Given the description of an element on the screen output the (x, y) to click on. 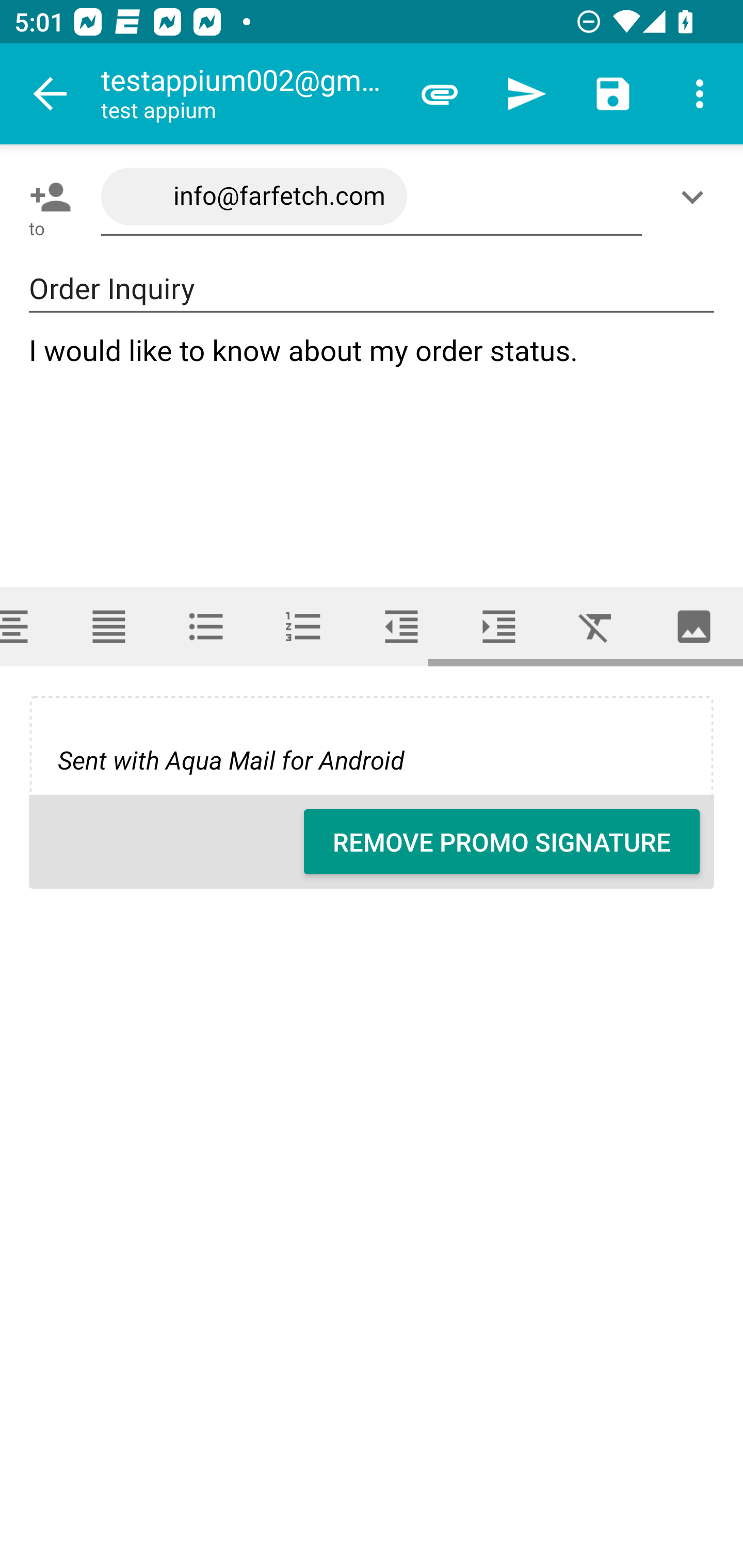
Navigate up (50, 93)
testappium002@gmail.com test appium (248, 93)
Attach (439, 93)
Send (525, 93)
Save (612, 93)
More options (699, 93)
info@farfetch.com,  (371, 197)
Pick contact: To (46, 196)
Show/Add CC/BCC (696, 196)
Order Inquiry (371, 288)
I would like to know about my order status. (372, 442)
Align center (30, 626)
Full justify (108, 626)
List (bulleted) (206, 626)
List (numbered) (303, 626)
Decrease indent (401, 626)
Increase indent (499, 626)
Clear format (596, 626)
Insert image (694, 626)
REMOVE PROMO SIGNATURE (501, 841)
